Given the description of an element on the screen output the (x, y) to click on. 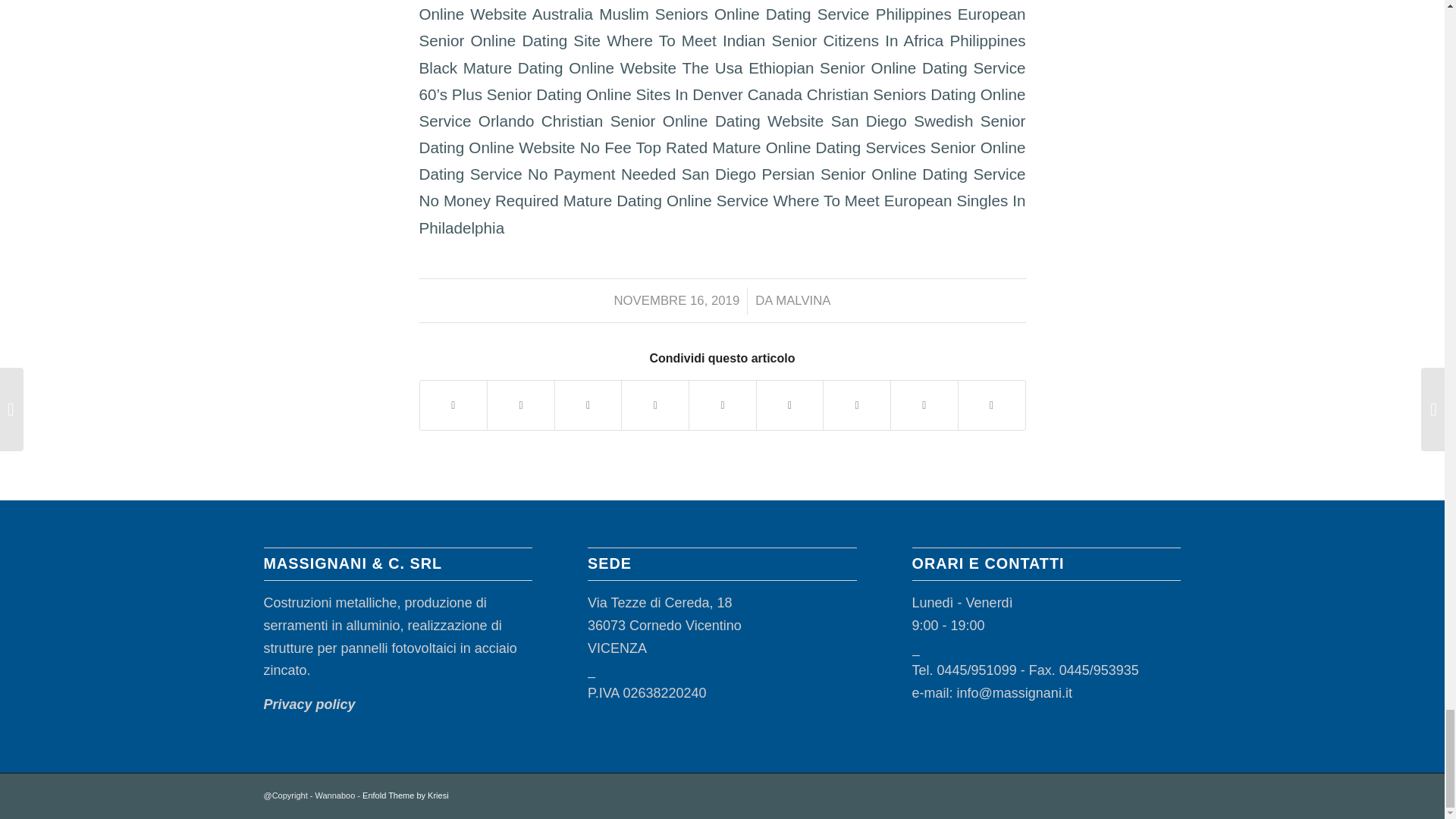
Where To Meet Indian Senior Citizens In Africa (775, 40)
The Usa Ethiopian Senior Online Dating Service (853, 67)
Philippines Black Mature Dating Online Website (722, 53)
San Diego Swedish Senior Dating Online Website (722, 134)
Australia Muslim Seniors Online Dating Service (700, 13)
Orlando Christian Senior Online Dating Website (651, 120)
Philippines European Senior Online Dating Site (722, 26)
Canada Christian Seniors Dating Online Service (722, 107)
Las Vegas African Mature Dating Online Website (722, 11)
Articoli scritti da Malvina (802, 300)
